Given the description of an element on the screen output the (x, y) to click on. 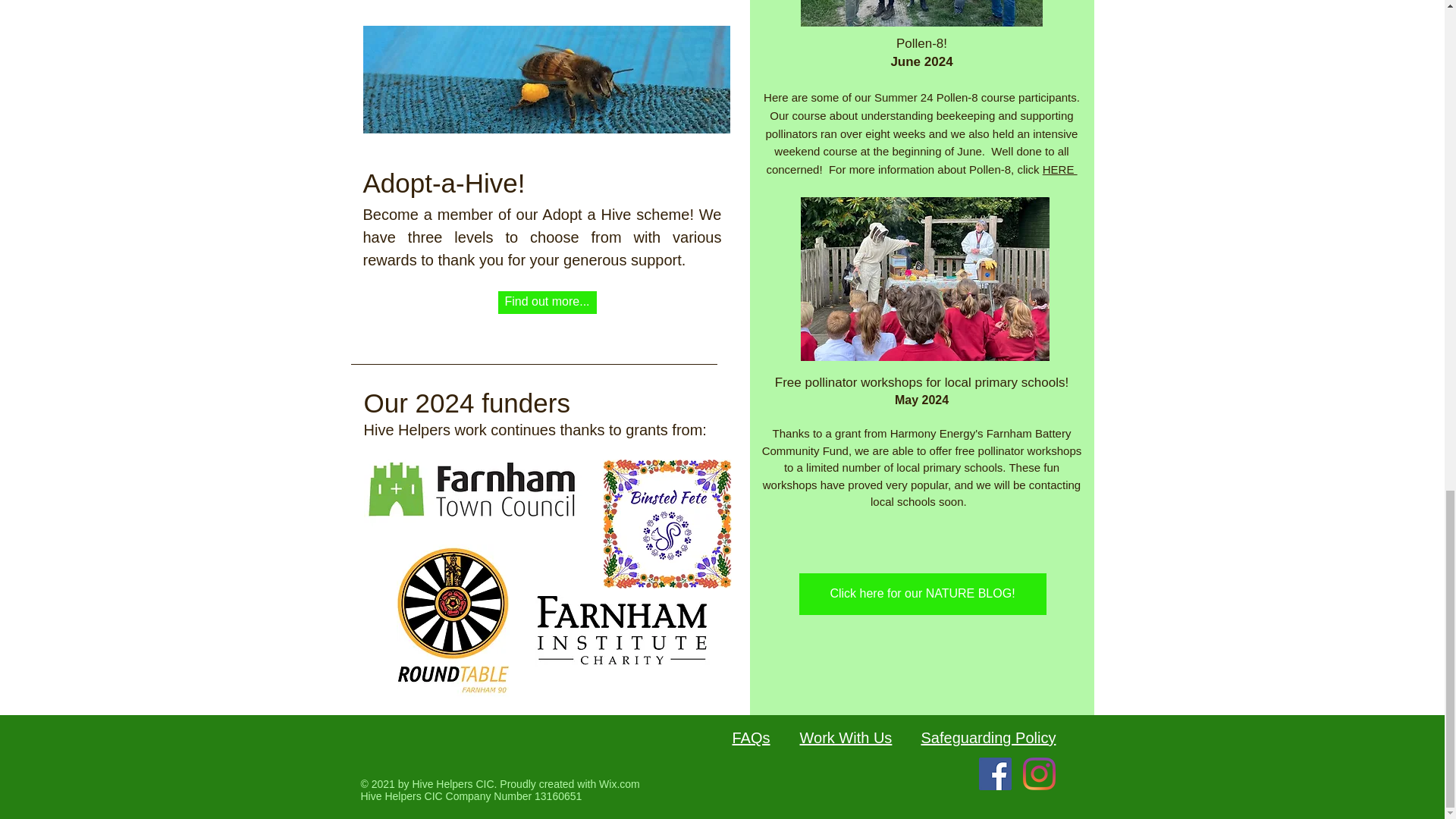
Work With Us (845, 737)
Find out more... (546, 302)
HERE  (1059, 169)
FAQs (751, 737)
Click here for our NATURE BLOG! (922, 594)
Wix.com (619, 784)
Safeguarding Policy (987, 737)
